Given the description of an element on the screen output the (x, y) to click on. 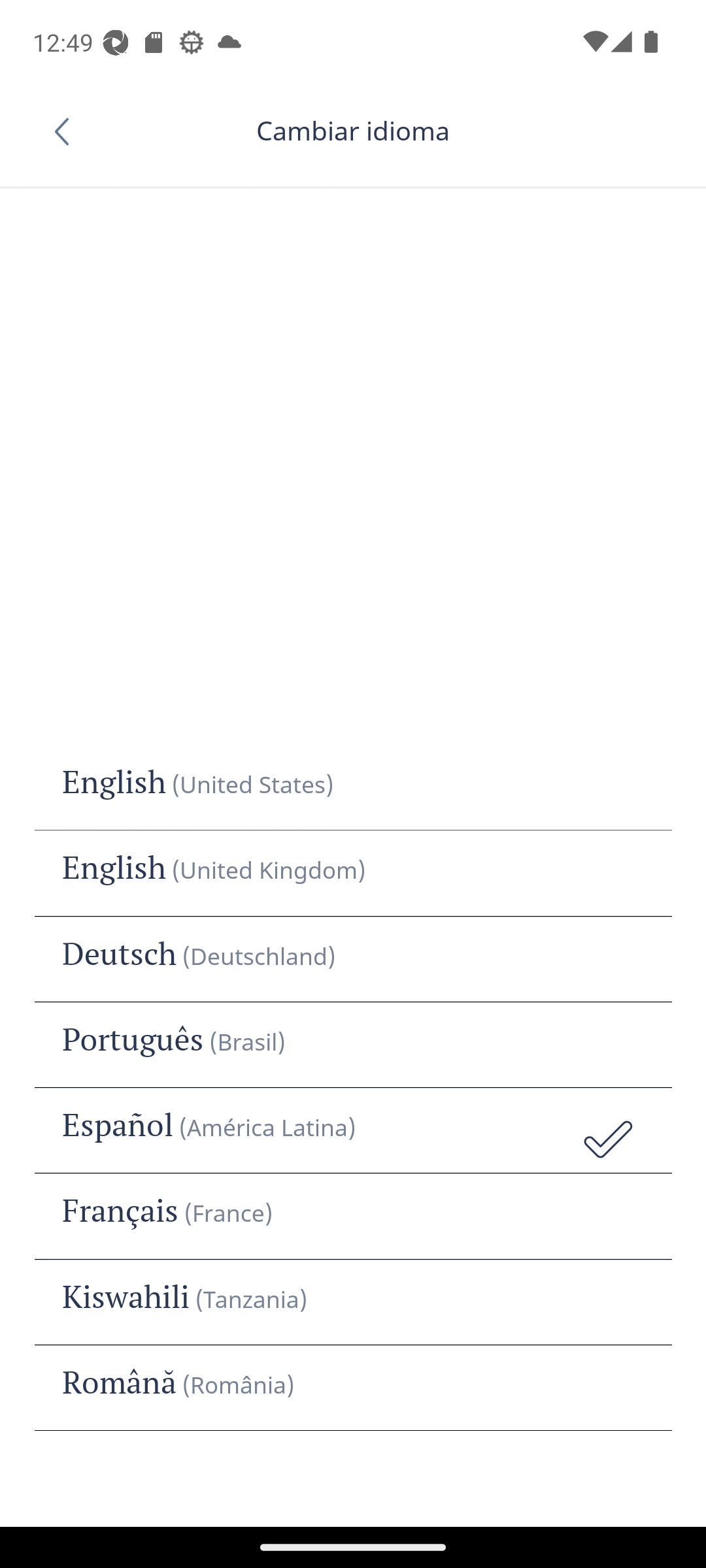
Go back, Navigates to the previous screen (68, 131)
English (United States) (353, 787)
English (United Kingdom) (353, 874)
Deutsch (Deutschland) (353, 959)
Português (Brasil) (353, 1044)
Español (América Latina)  (353, 1130)
Français (France) (353, 1215)
Kiswahili (Tanzania) (353, 1302)
Română (România) (353, 1387)
